Given the description of an element on the screen output the (x, y) to click on. 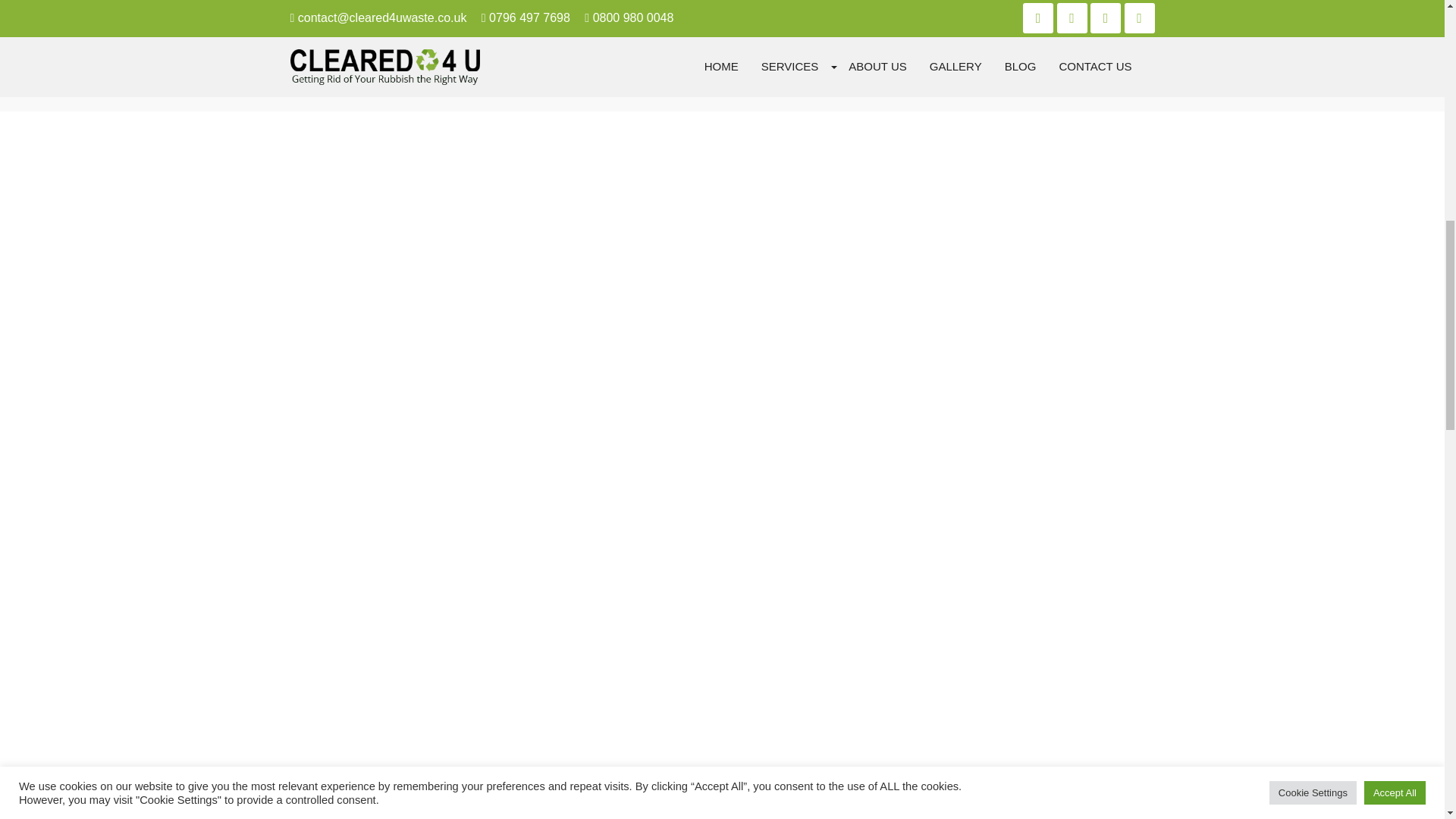
0800-980-0048 (722, 195)
furniture removal service in Manchester (641, 79)
